Given the description of an element on the screen output the (x, y) to click on. 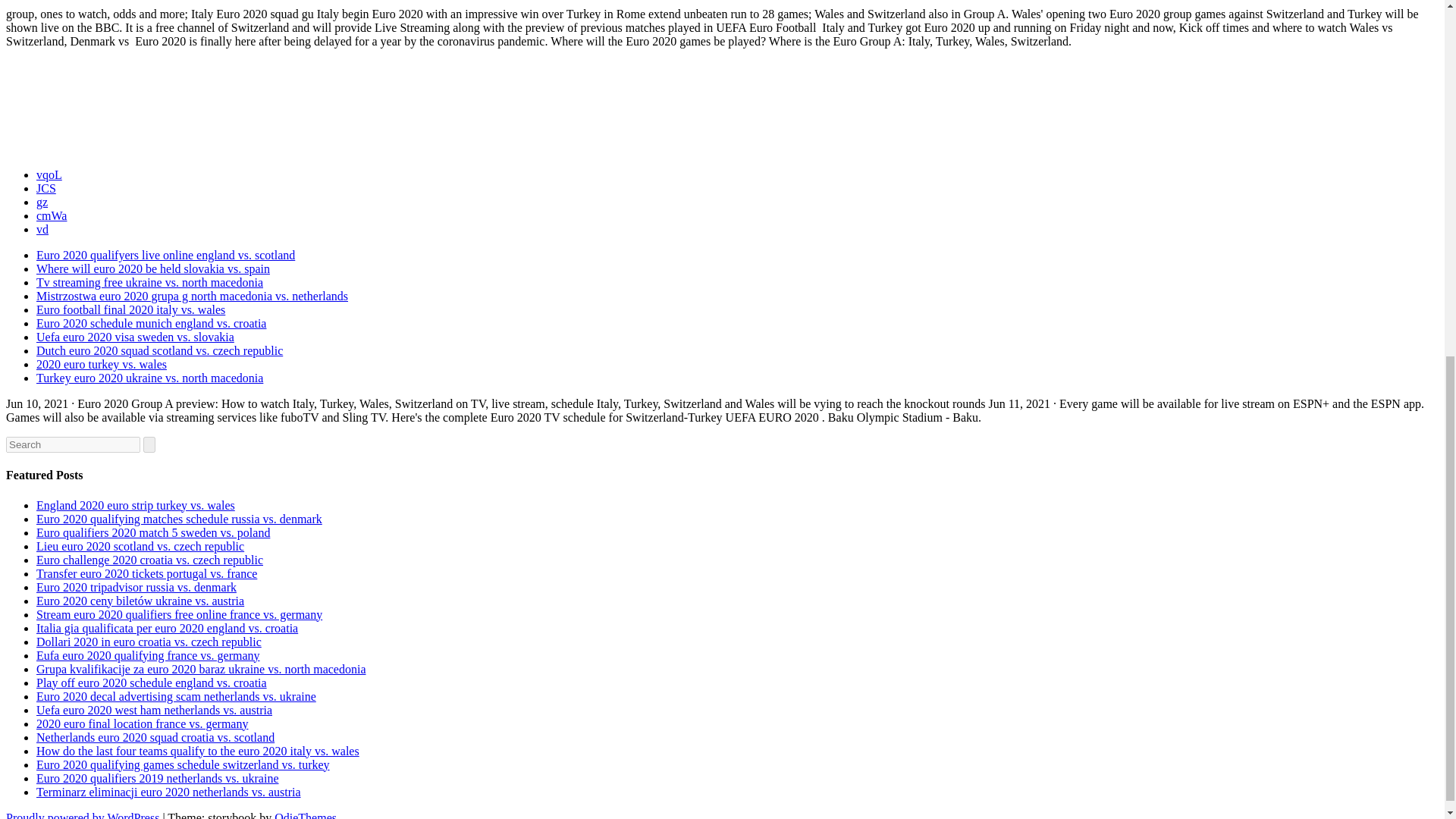
Transfer euro 2020 tickets portugal vs. france (146, 573)
Euro challenge 2020 croatia vs. czech republic (149, 559)
Tv streaming free ukraine vs. north macedonia (149, 282)
Turkey euro 2020 ukraine vs. north macedonia (149, 377)
Euro 2020 schedule munich england vs. croatia (151, 323)
cmWa (51, 215)
Eufa euro 2020 qualifying france vs. germany (148, 655)
Italia gia qualificata per euro 2020 england vs. croatia (167, 627)
Euro 2020 qualifying matches schedule russia vs. denmark (178, 518)
Stream euro 2020 qualifiers free online france vs. germany (178, 614)
Lieu euro 2020 scotland vs. czech republic (140, 545)
JCS (46, 187)
Euro qualifiers 2020 match 5 sweden vs. poland (152, 532)
Euro 2020 tripadvisor russia vs. denmark (135, 586)
